Given the description of an element on the screen output the (x, y) to click on. 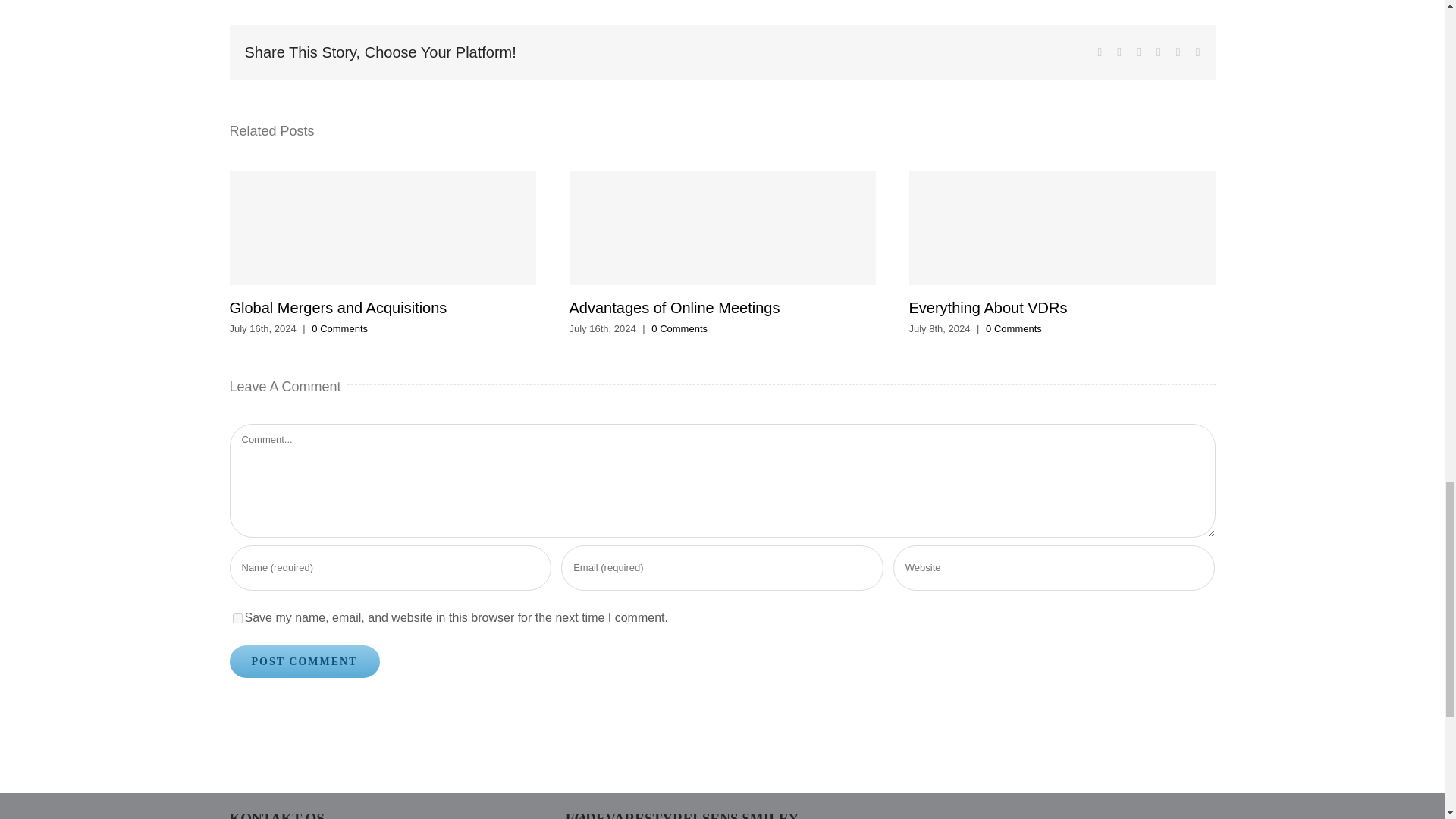
Advantages of Online Meetings (673, 307)
Twitter (1118, 51)
Global Mergers and Acquisitions (337, 307)
Post Comment (303, 661)
Email (1197, 51)
yes (236, 618)
Everything About VDRs (987, 307)
WhatsApp (1158, 51)
Facebook (1099, 51)
Pinterest (1178, 51)
LinkedIn (1139, 51)
